Given the description of an element on the screen output the (x, y) to click on. 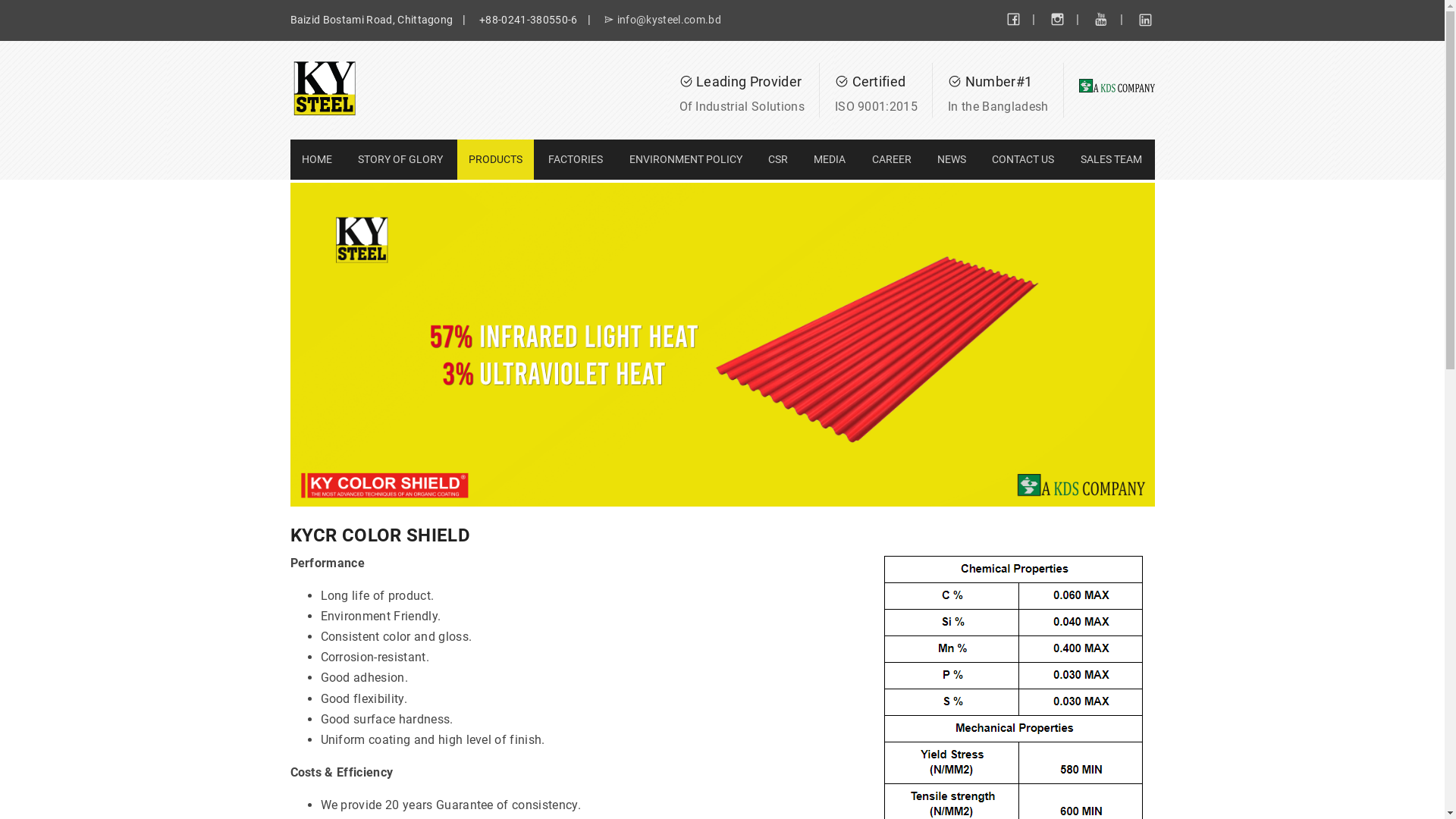
ENVIRONMENT POLICY Element type: text (685, 159)
CAREER Element type: text (891, 159)
MEDIA Element type: text (829, 159)
CSR Element type: text (777, 159)
STORY OF GLORY Element type: text (400, 159)
HOME Element type: text (315, 159)
info@kysteel.com.bd Element type: text (662, 20)
SALES TEAM Element type: text (1111, 159)
CONTACT US Element type: text (1022, 159)
FACTORIES Element type: text (575, 159)
PRODUCTS Element type: text (495, 159)
NEWS Element type: text (951, 159)
